Given the description of an element on the screen output the (x, y) to click on. 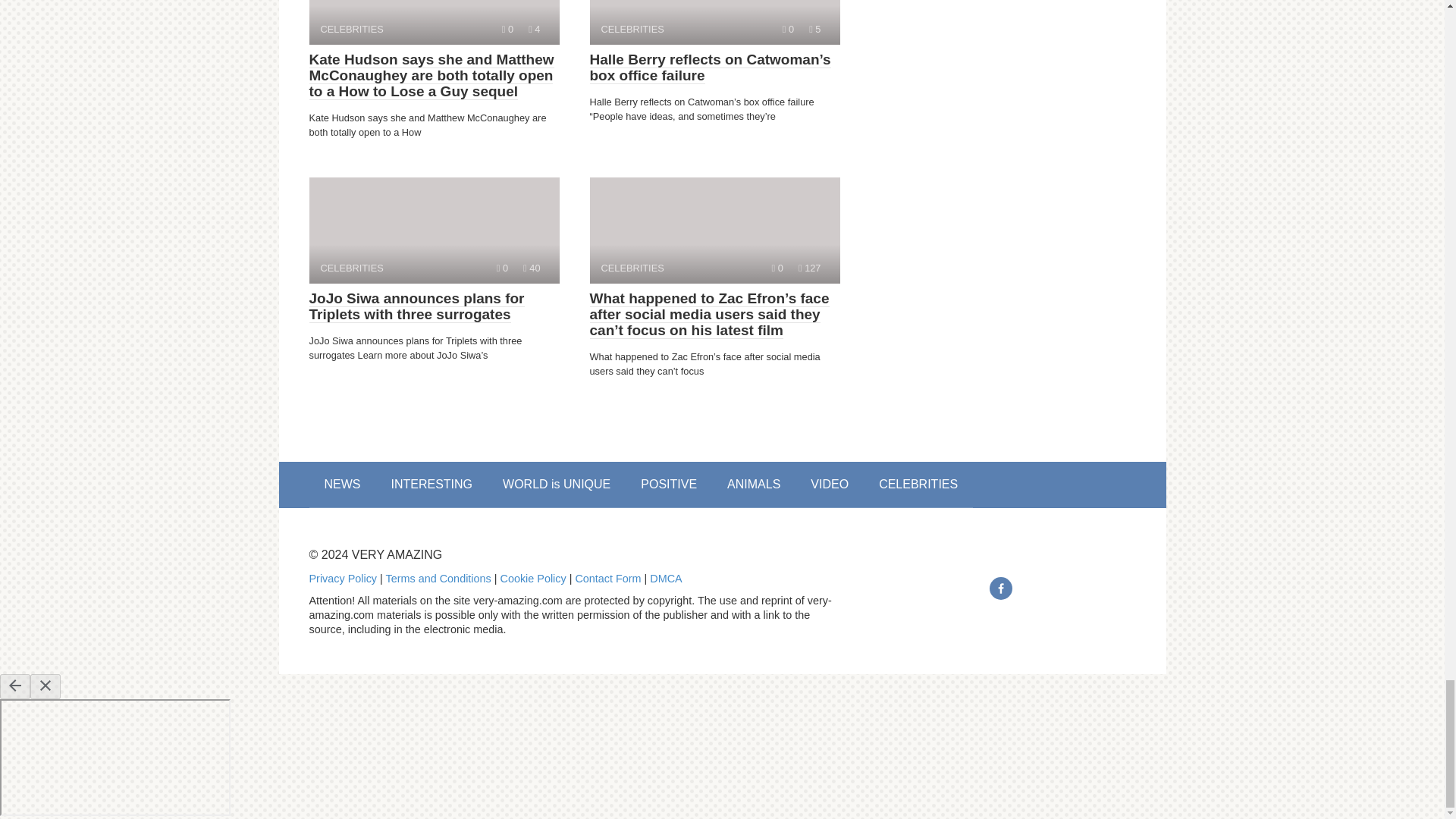
Comments (507, 29)
Views (433, 230)
JoJo Siwa announces plans for Triplets with three surrogates (714, 22)
Views (534, 29)
Comments (433, 22)
Comments (416, 306)
Comments (809, 267)
Views (502, 267)
Views (777, 267)
